Given the description of an element on the screen output the (x, y) to click on. 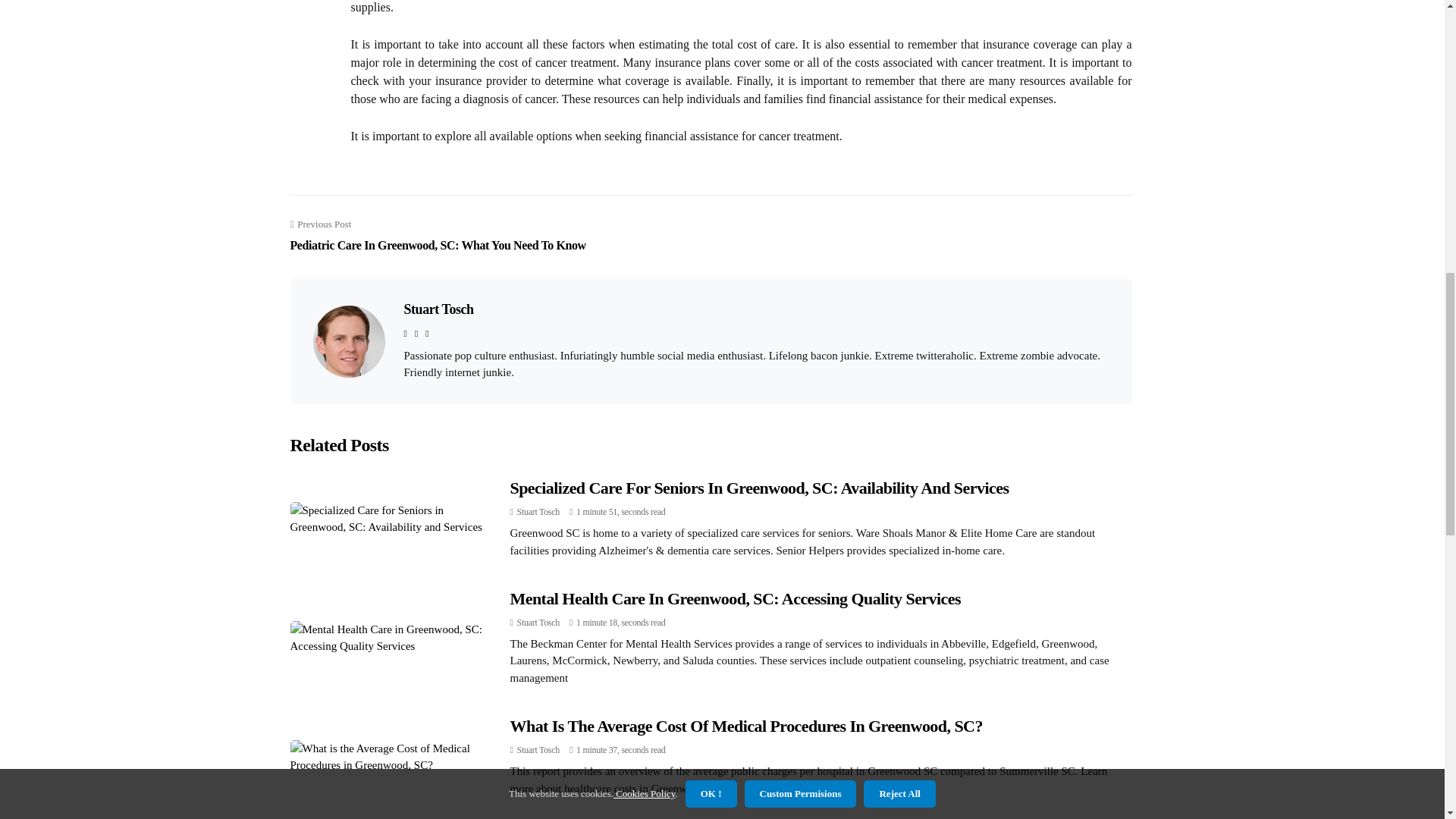
Stuart Tosch (537, 622)
Stuart Tosch (537, 749)
Posts by Stuart Tosch (537, 622)
Stuart Tosch (438, 309)
Stuart Tosch (537, 511)
Posts by Stuart Tosch (537, 749)
Posts by Stuart Tosch (537, 511)
